Given the description of an element on the screen output the (x, y) to click on. 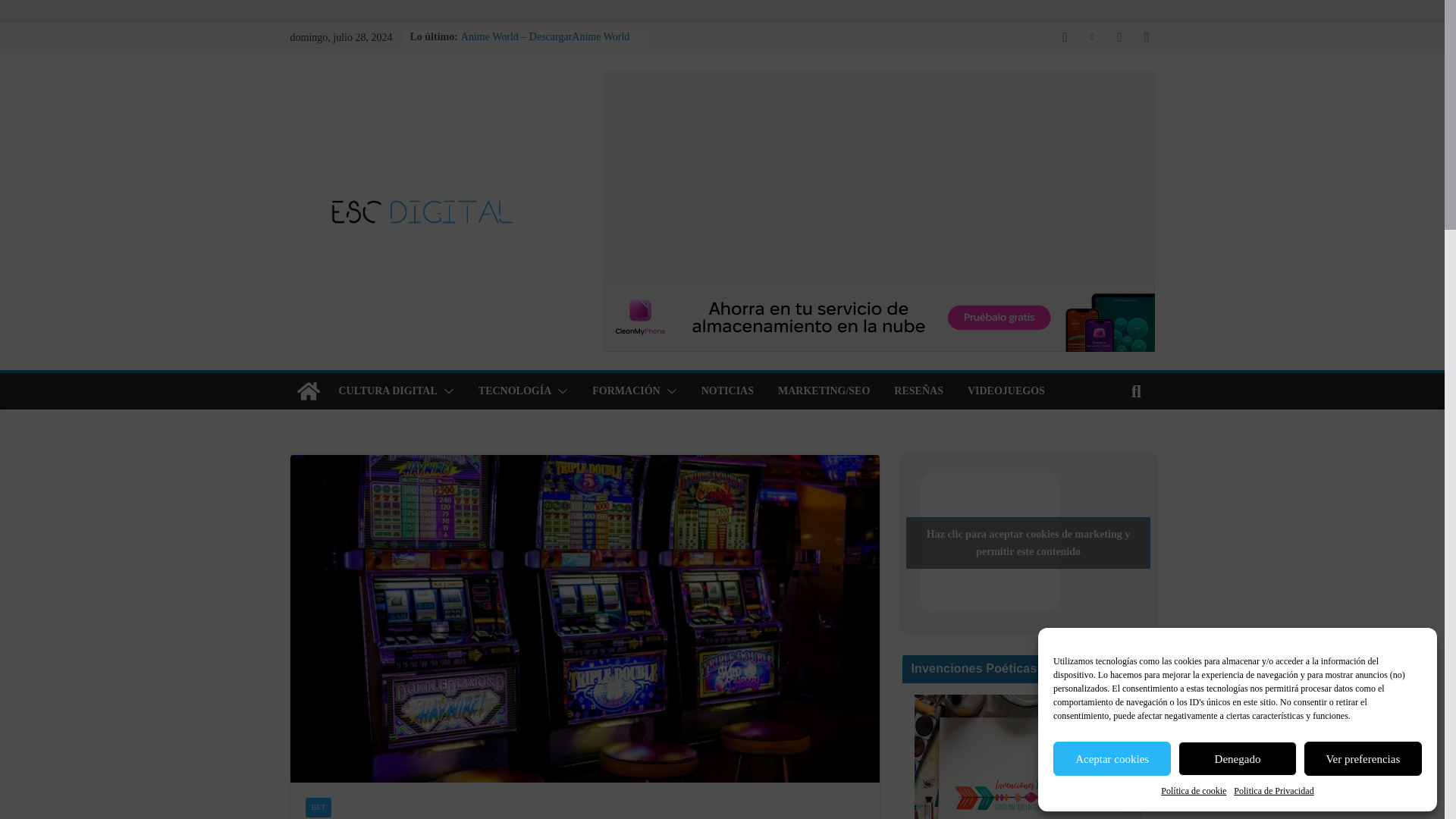
CULTURA DIGITAL (386, 391)
Politica de Privacidad (1273, 791)
Advertisement (878, 177)
Denegado (1236, 758)
Aceptar cookies (1111, 758)
Ver preferencias (1363, 758)
Escape Digital  (307, 391)
